Given the description of an element on the screen output the (x, y) to click on. 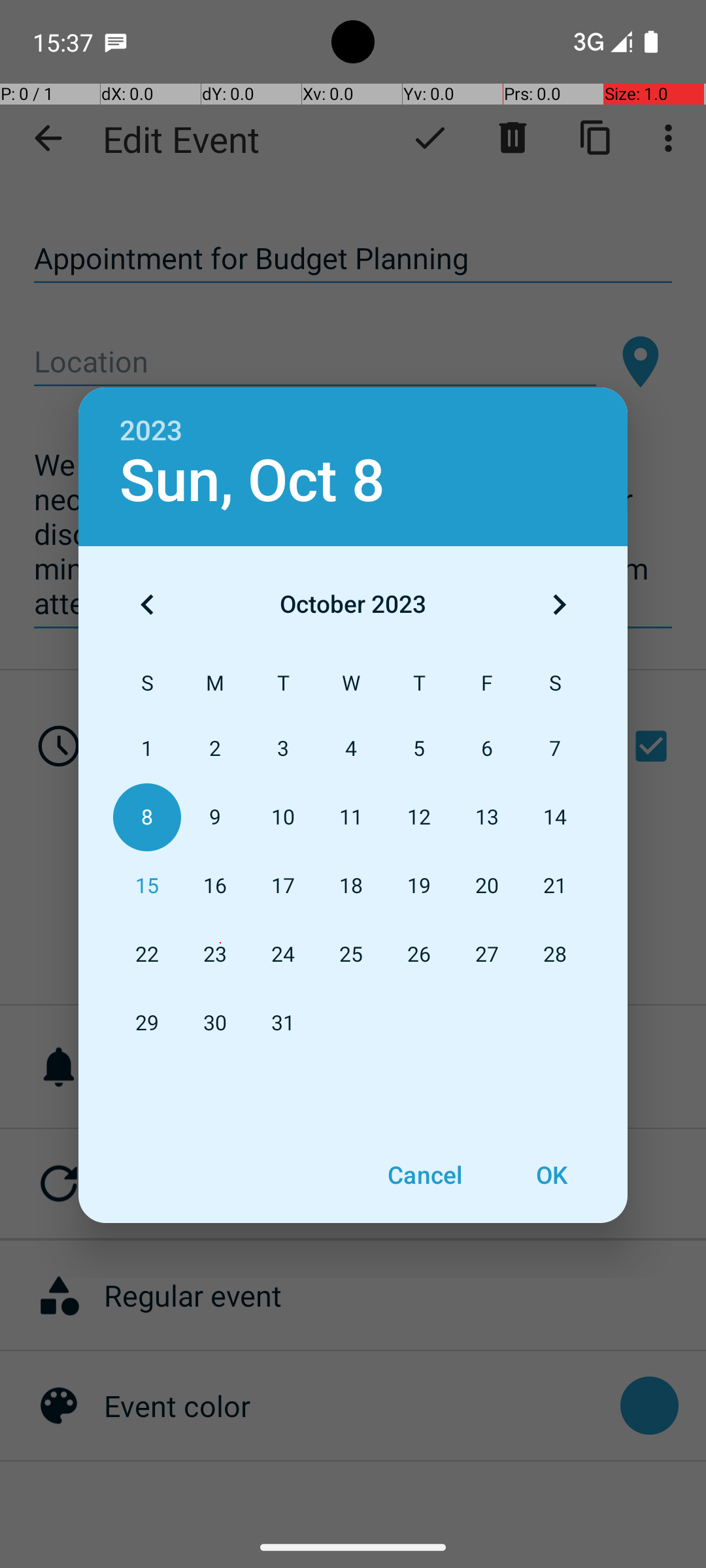
Sun, Oct 8 Element type: android.widget.TextView (252, 480)
15:37 Element type: android.widget.TextView (64, 41)
